Given the description of an element on the screen output the (x, y) to click on. 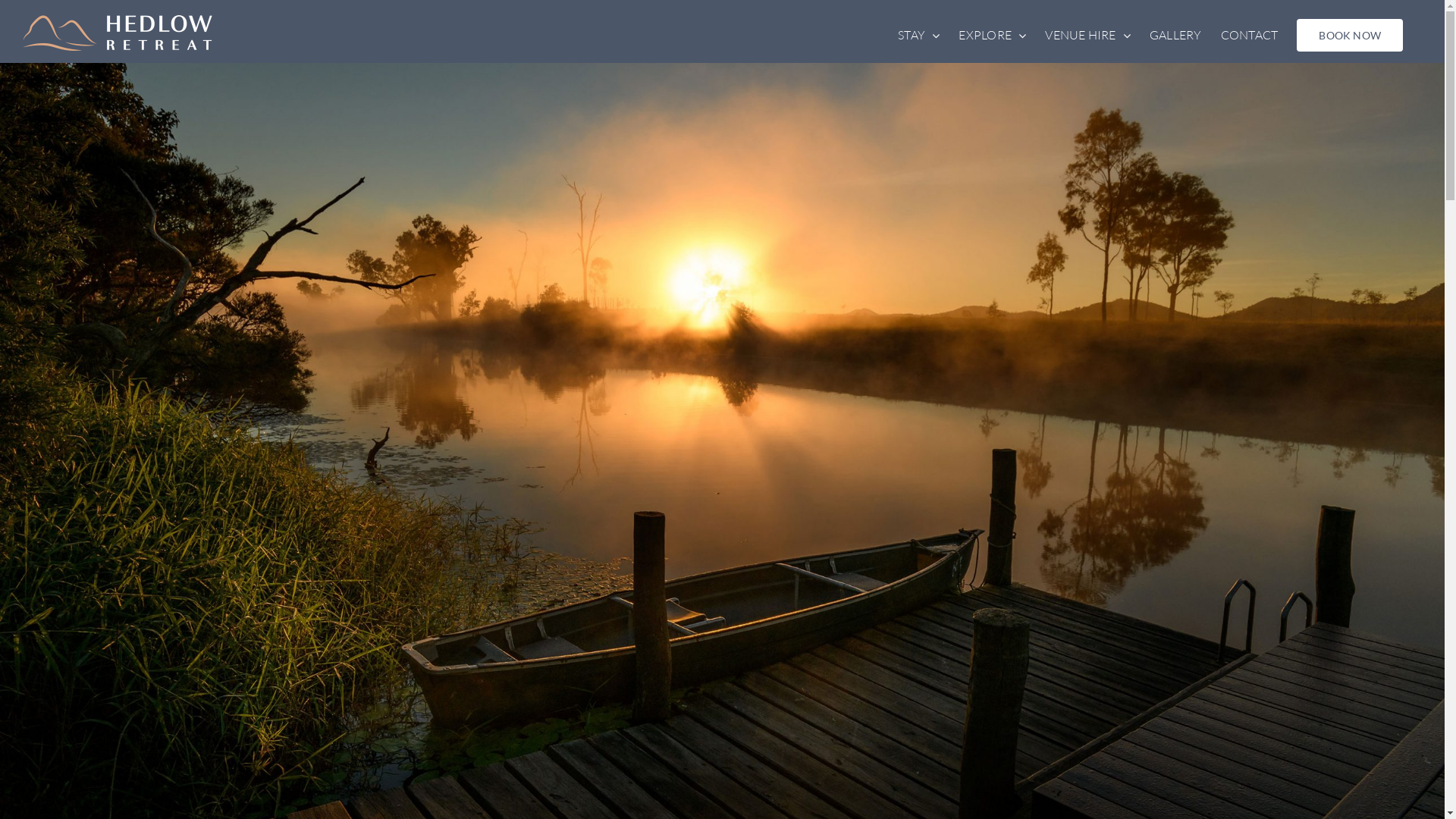
VENUE HIRE Element type: text (1087, 34)
BOOK NOW Element type: text (1349, 34)
CONTACT Element type: text (1249, 34)
STAY Element type: text (918, 34)
GALLERY Element type: text (1175, 34)
EXPLORE Element type: text (992, 34)
